Given the description of an element on the screen output the (x, y) to click on. 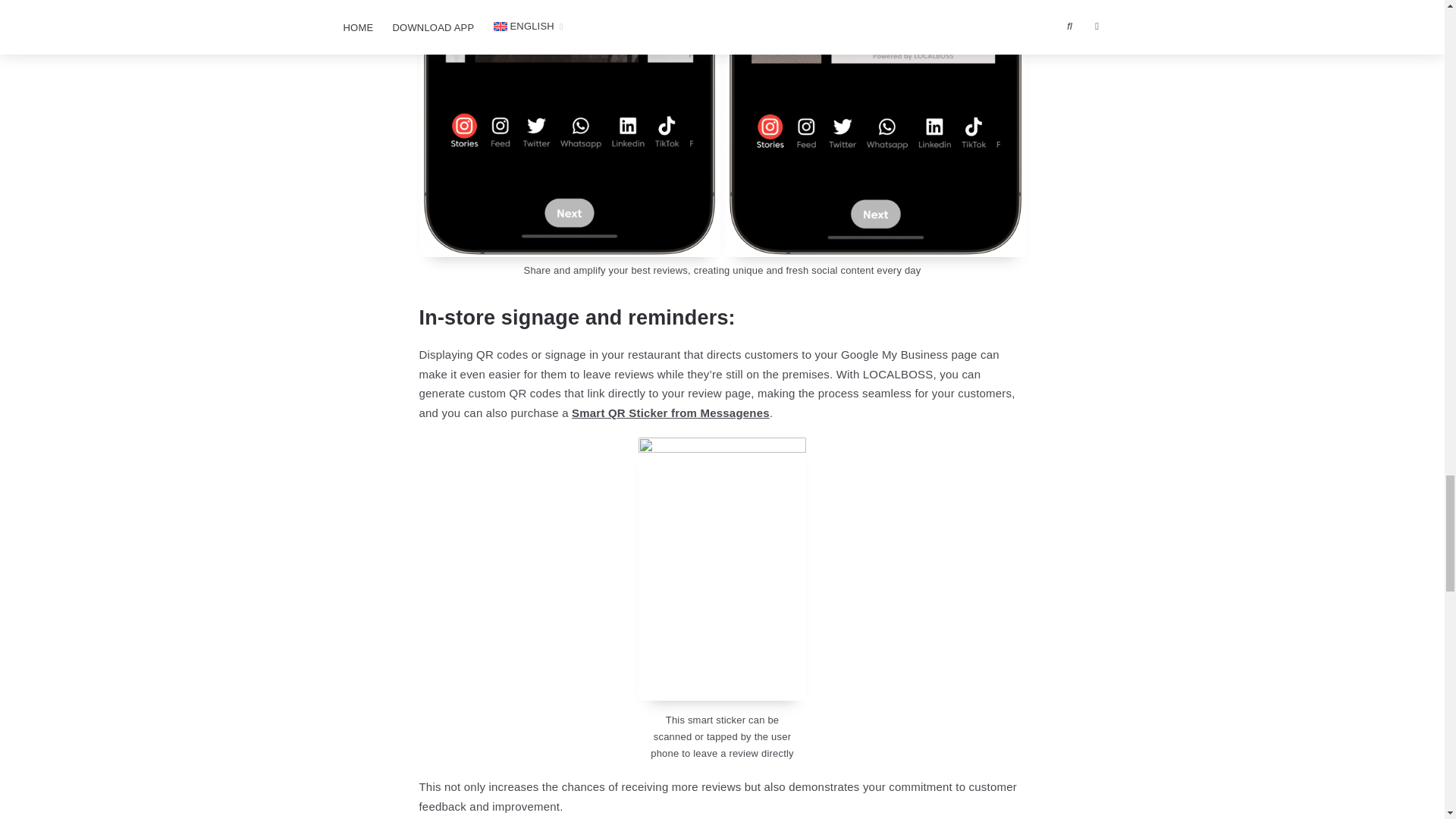
Smart QR Sticker from Messagenes (671, 412)
